Given the description of an element on the screen output the (x, y) to click on. 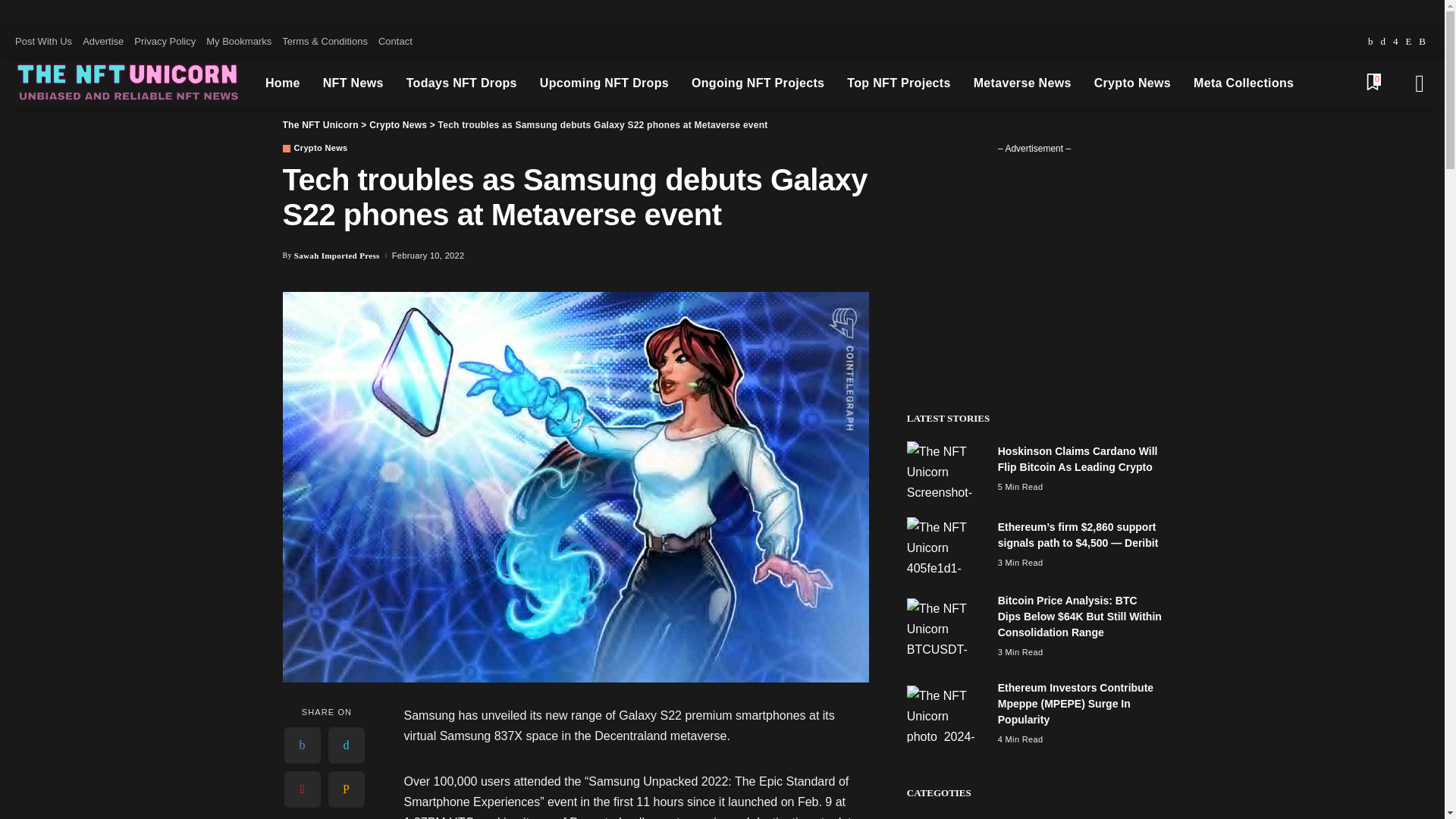
Todays NFT Drops (461, 83)
Privacy Policy (164, 42)
Upcoming NFT Drops (603, 83)
Advertise (103, 42)
Post With Us (45, 42)
My Bookmarks (238, 42)
NFT News (352, 83)
Contact (394, 42)
Home (282, 83)
